Given the description of an element on the screen output the (x, y) to click on. 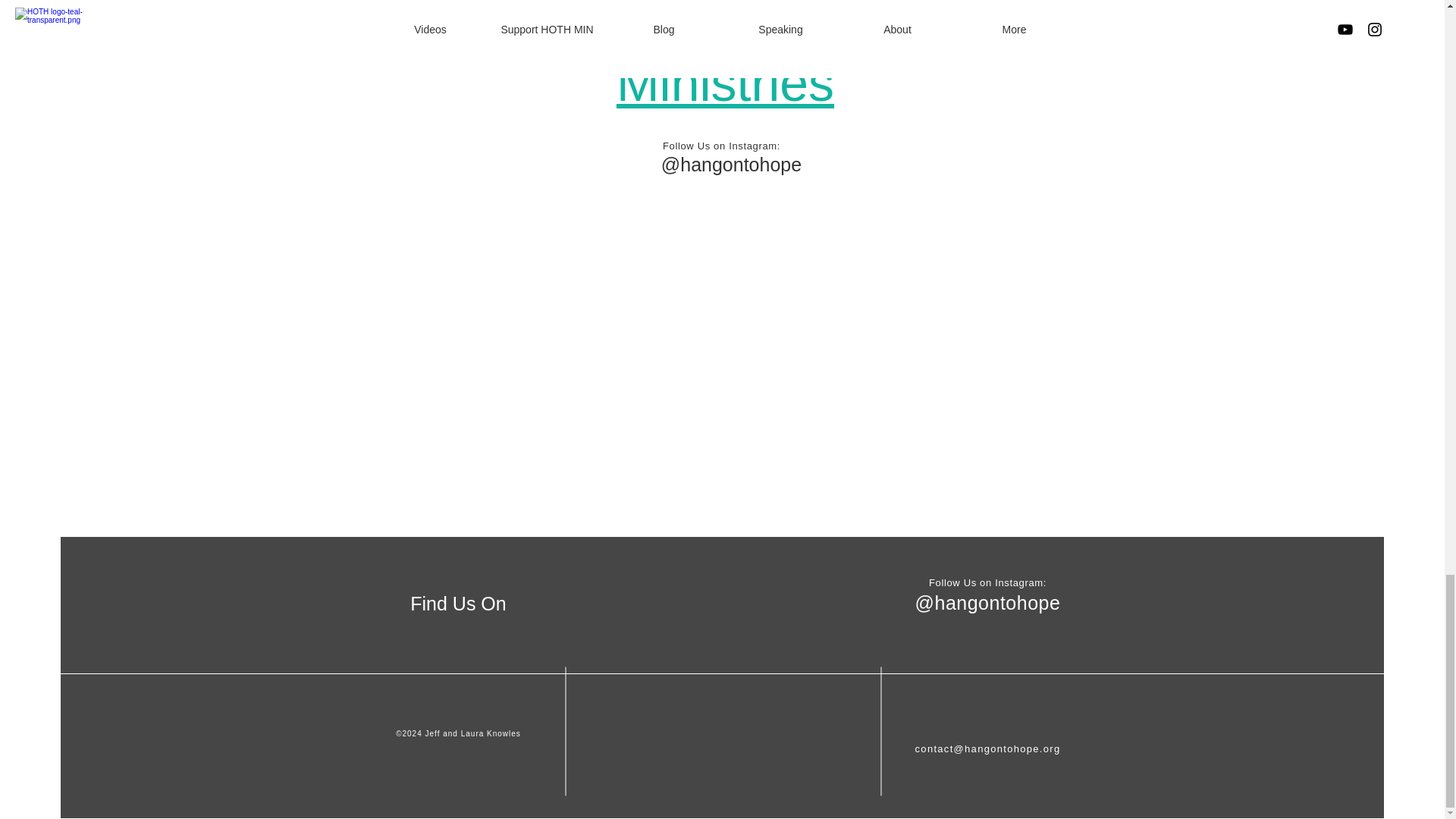
Support Hang onto Hope Ministries (724, 55)
